Given the description of an element on the screen output the (x, y) to click on. 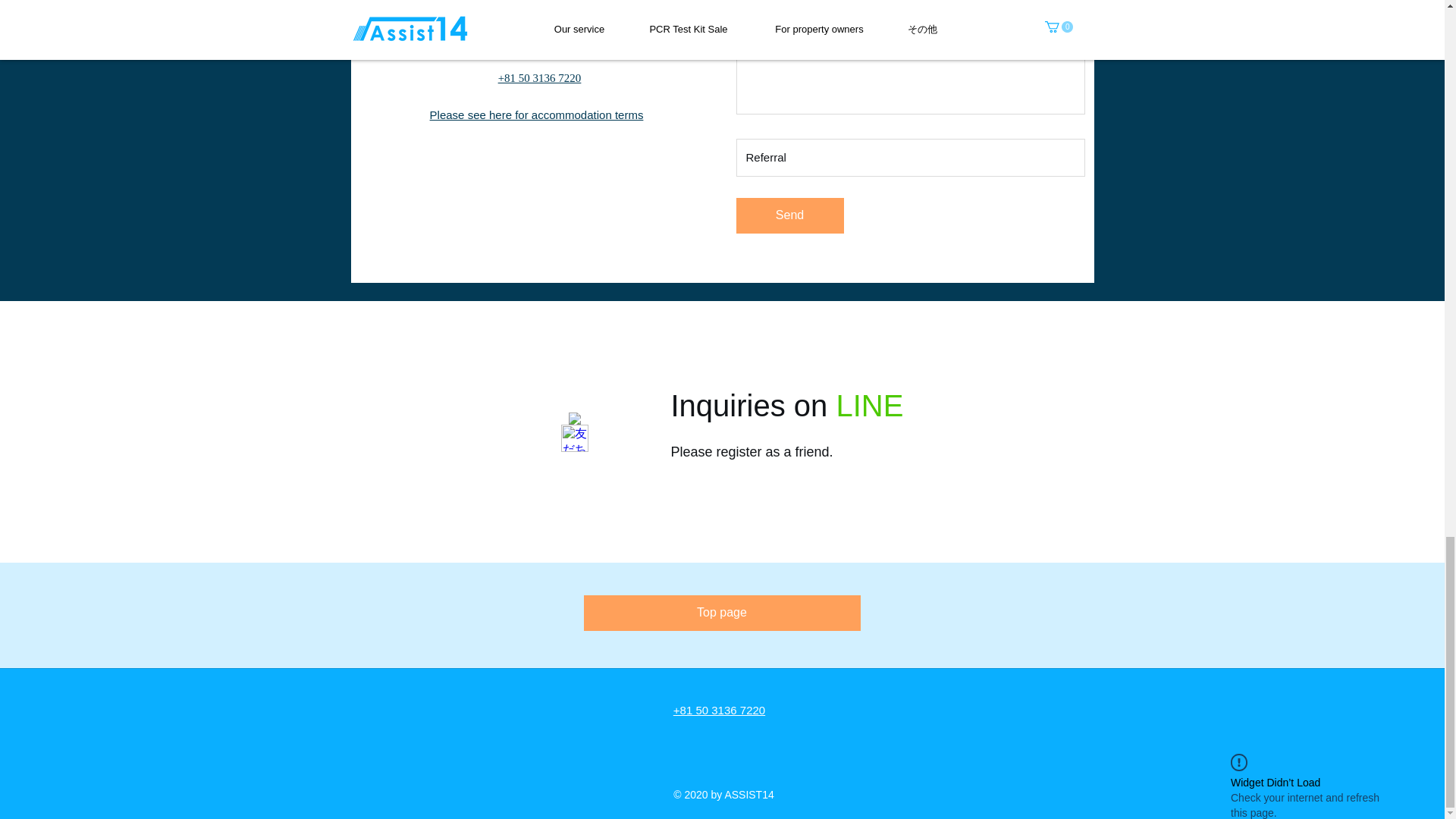
Embedded Content (573, 431)
Top page (721, 612)
Send (789, 215)
